Given the description of an element on the screen output the (x, y) to click on. 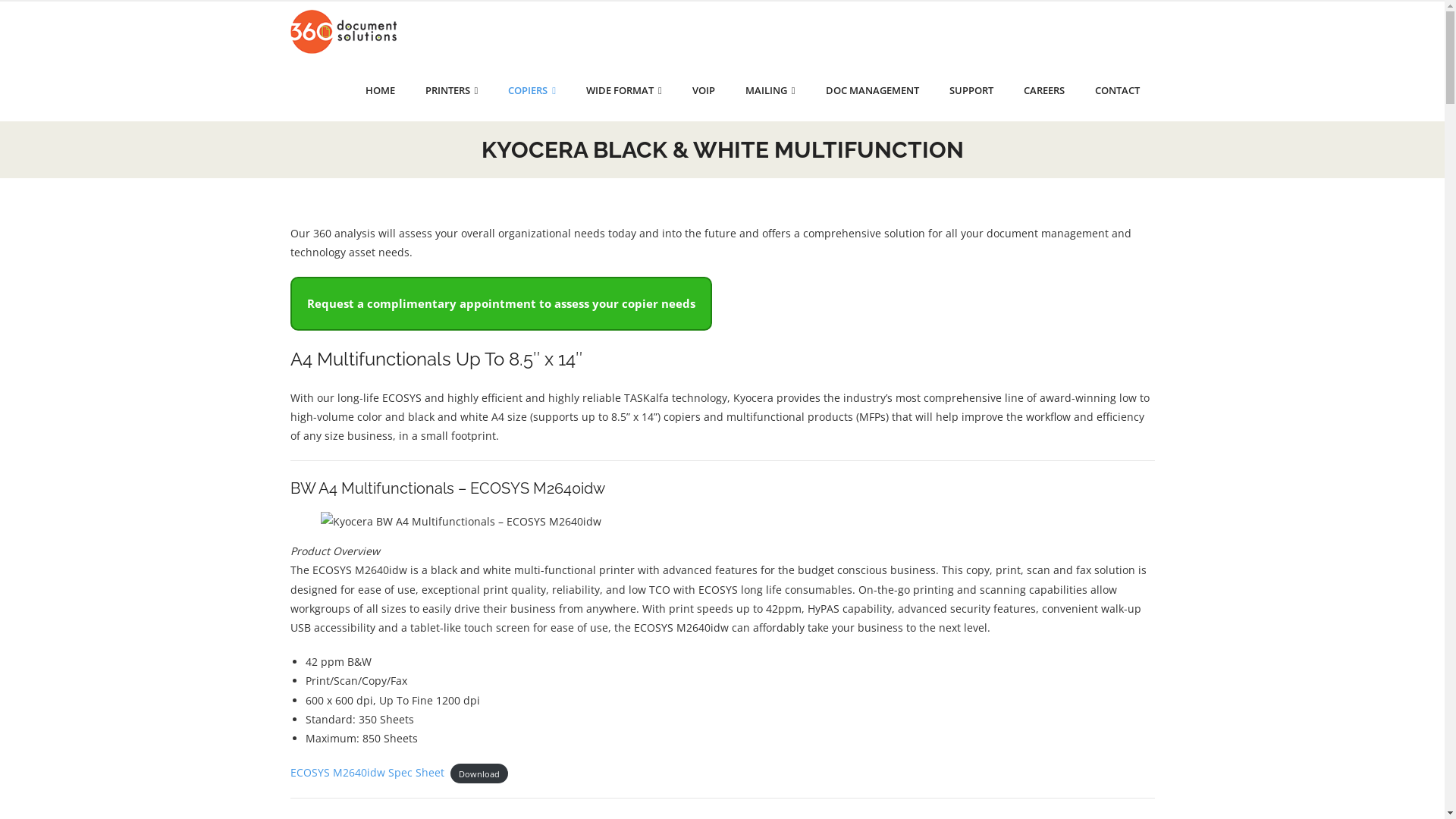
SUPPORT Element type: text (971, 90)
Download Element type: text (479, 773)
COPIERS Element type: text (531, 90)
PRINTERS Element type: text (450, 90)
ECOSYS M2640idw Spec Sheet Element type: text (366, 772)
DOC MANAGEMENT Element type: text (871, 90)
HOME Element type: text (380, 90)
MAILING Element type: text (770, 90)
CONTACT Element type: text (1116, 90)
VOIP Element type: text (703, 90)
CAREERS Element type: text (1043, 90)
WIDE FORMAT Element type: text (624, 90)
